Given the description of an element on the screen output the (x, y) to click on. 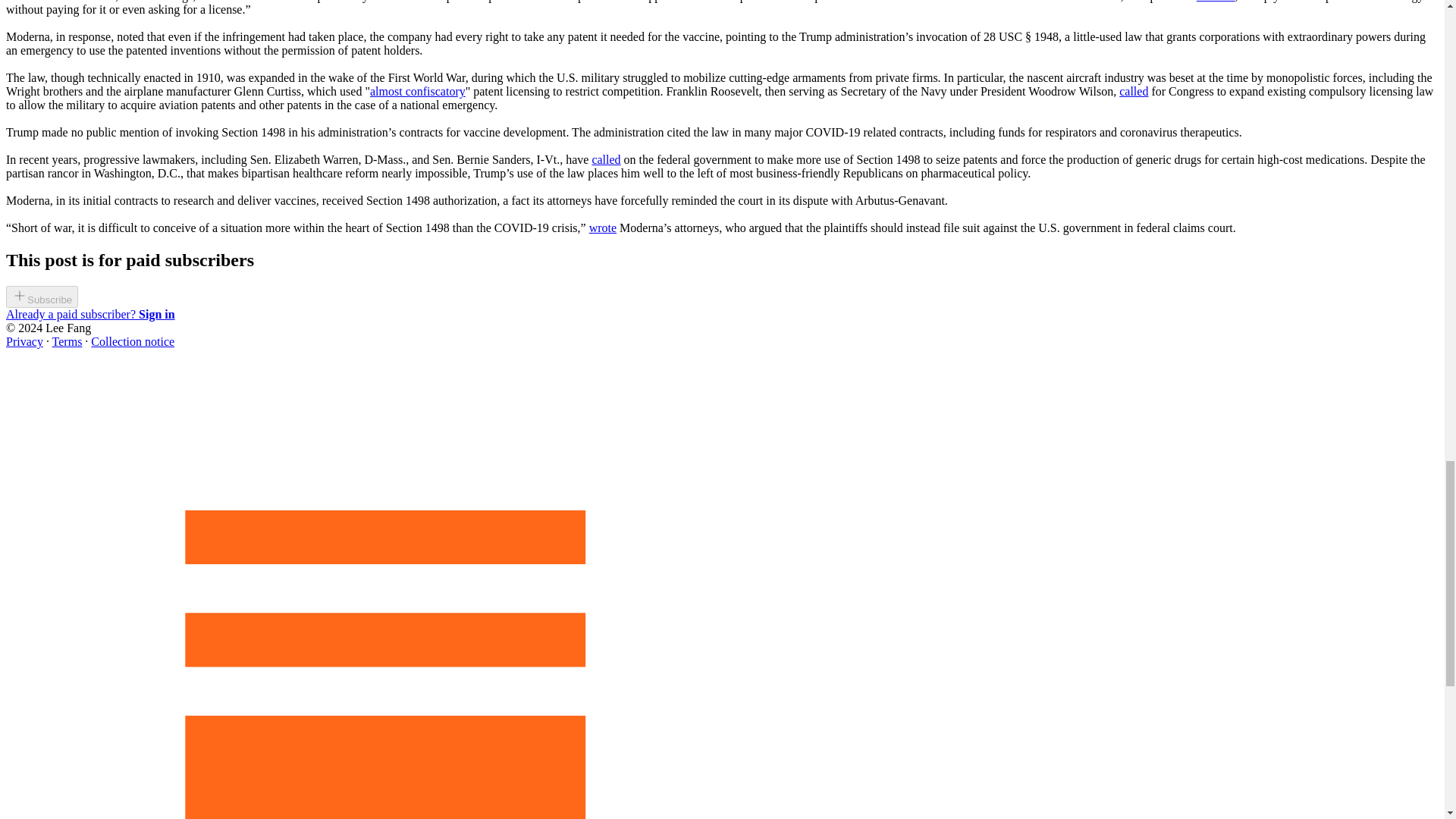
Privacy (24, 341)
wrote (602, 227)
Subscribe (41, 298)
claimed (1215, 1)
Already a paid subscriber? Sign in (89, 314)
called (605, 159)
Collection notice (132, 341)
Terms (67, 341)
Subscribe (41, 296)
almost confiscatory (417, 91)
called (1133, 91)
